Given the description of an element on the screen output the (x, y) to click on. 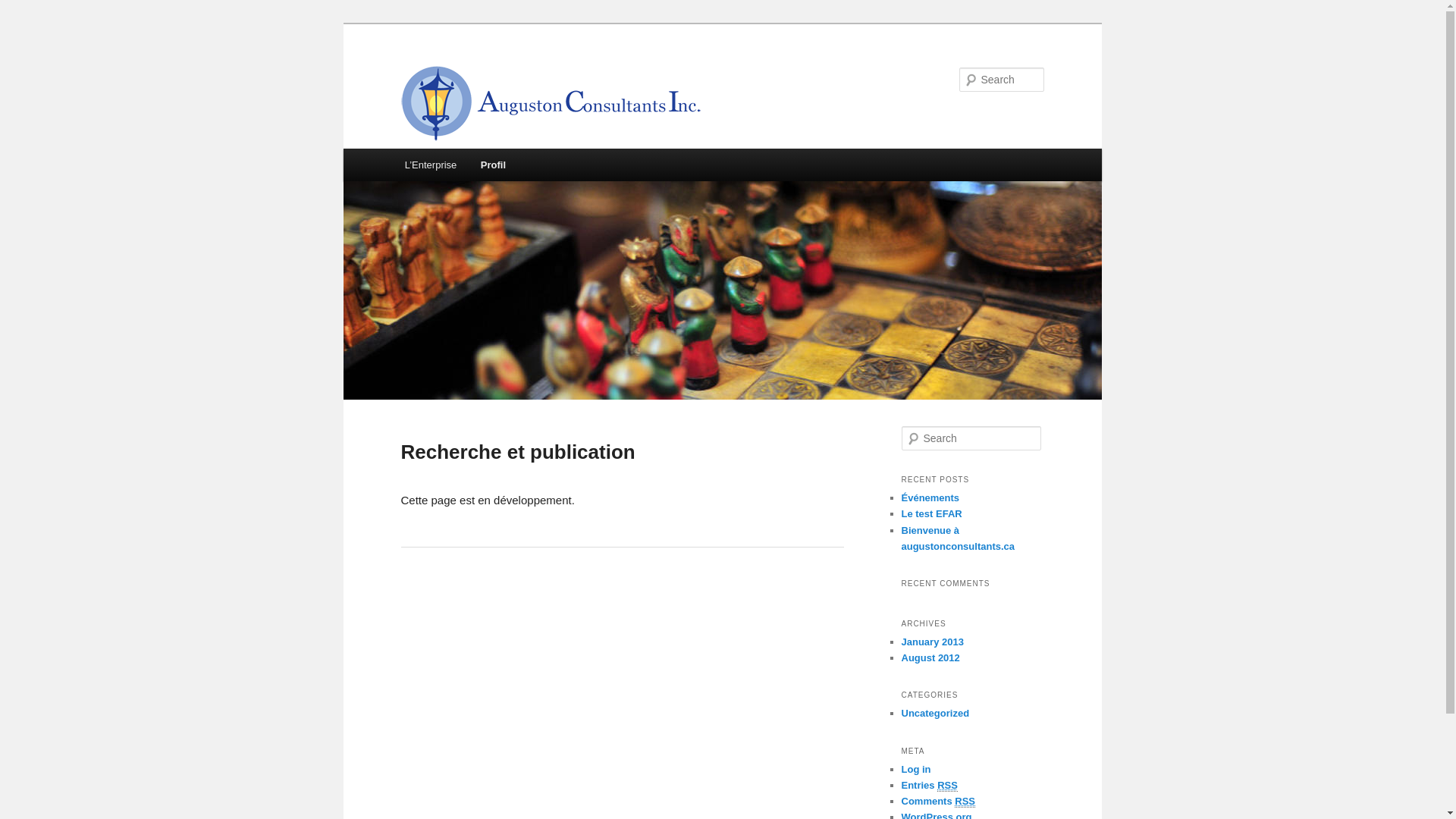
Search Element type: text (24, 8)
Log in Element type: text (915, 769)
Skip to secondary content Element type: text (479, 167)
Uncategorized Element type: text (934, 712)
August 2012 Element type: text (929, 657)
Comments RSS Element type: text (937, 801)
Search Element type: text (20, 10)
Entries RSS Element type: text (928, 785)
Auguston Consultants Element type: text (549, 103)
January 2013 Element type: text (931, 641)
Le test EFAR Element type: text (930, 513)
Profil Element type: text (492, 164)
Skip to primary content Element type: text (472, 167)
